Given the description of an element on the screen output the (x, y) to click on. 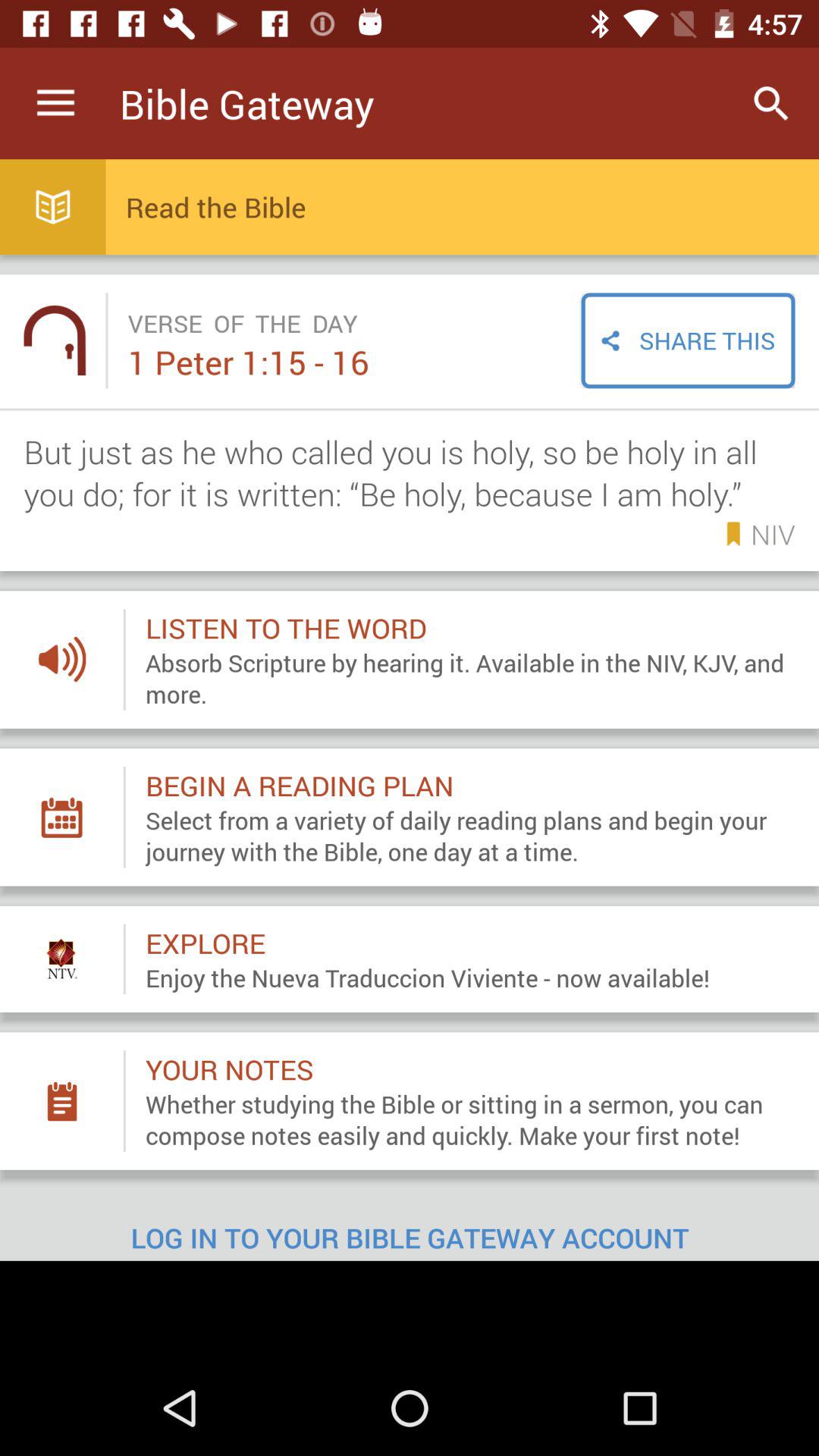
click the icon next to the bible gateway app (55, 103)
